Given the description of an element on the screen output the (x, y) to click on. 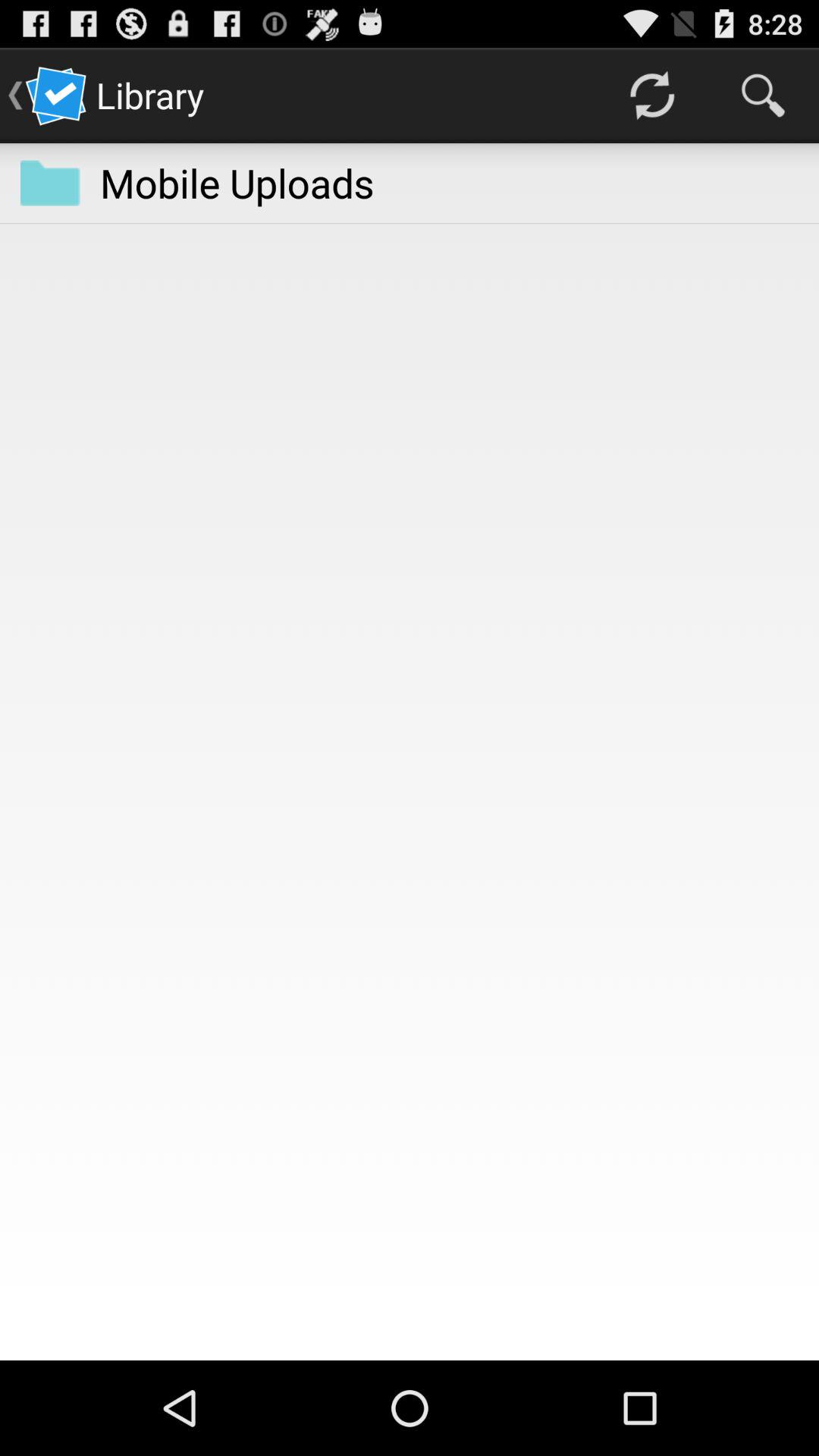
turn on app next to mobile uploads (50, 182)
